Given the description of an element on the screen output the (x, y) to click on. 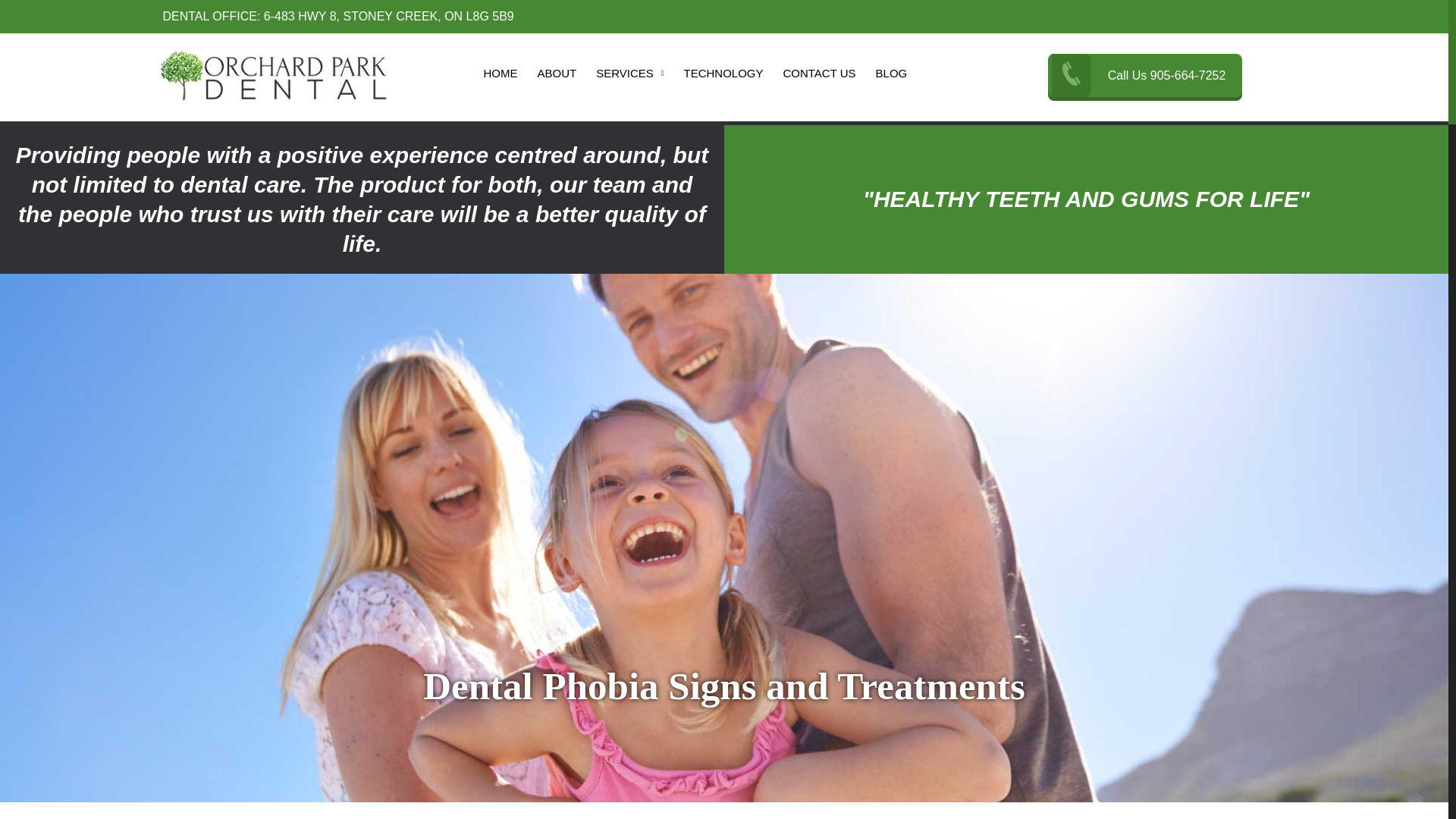
ABOUT (557, 75)
HOME (500, 75)
SERVICES (629, 75)
CONTACT US (818, 75)
TECHNOLOGY (722, 75)
